Given the description of an element on the screen output the (x, y) to click on. 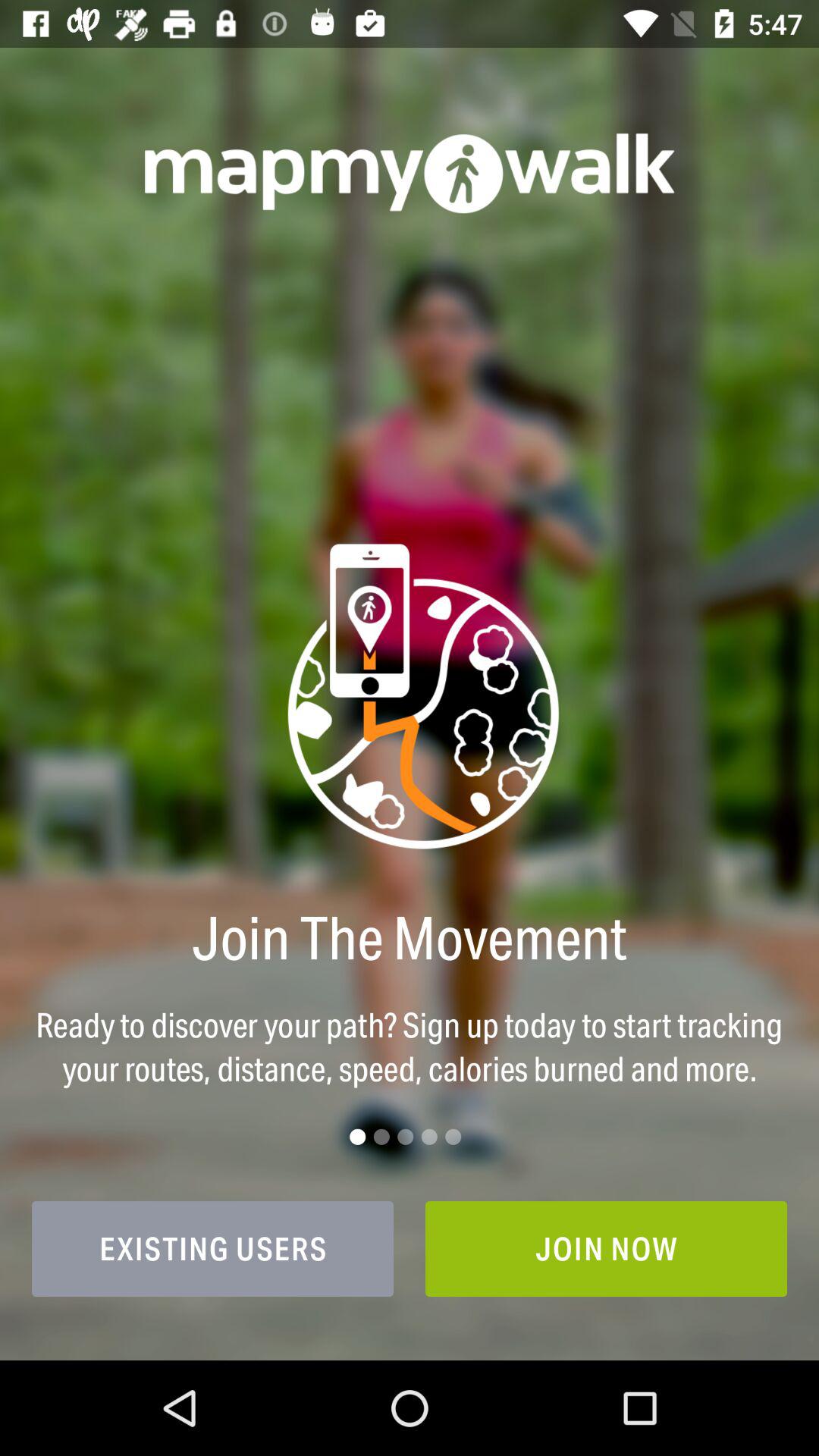
turn on icon to the right of existing users (606, 1248)
